Given the description of an element on the screen output the (x, y) to click on. 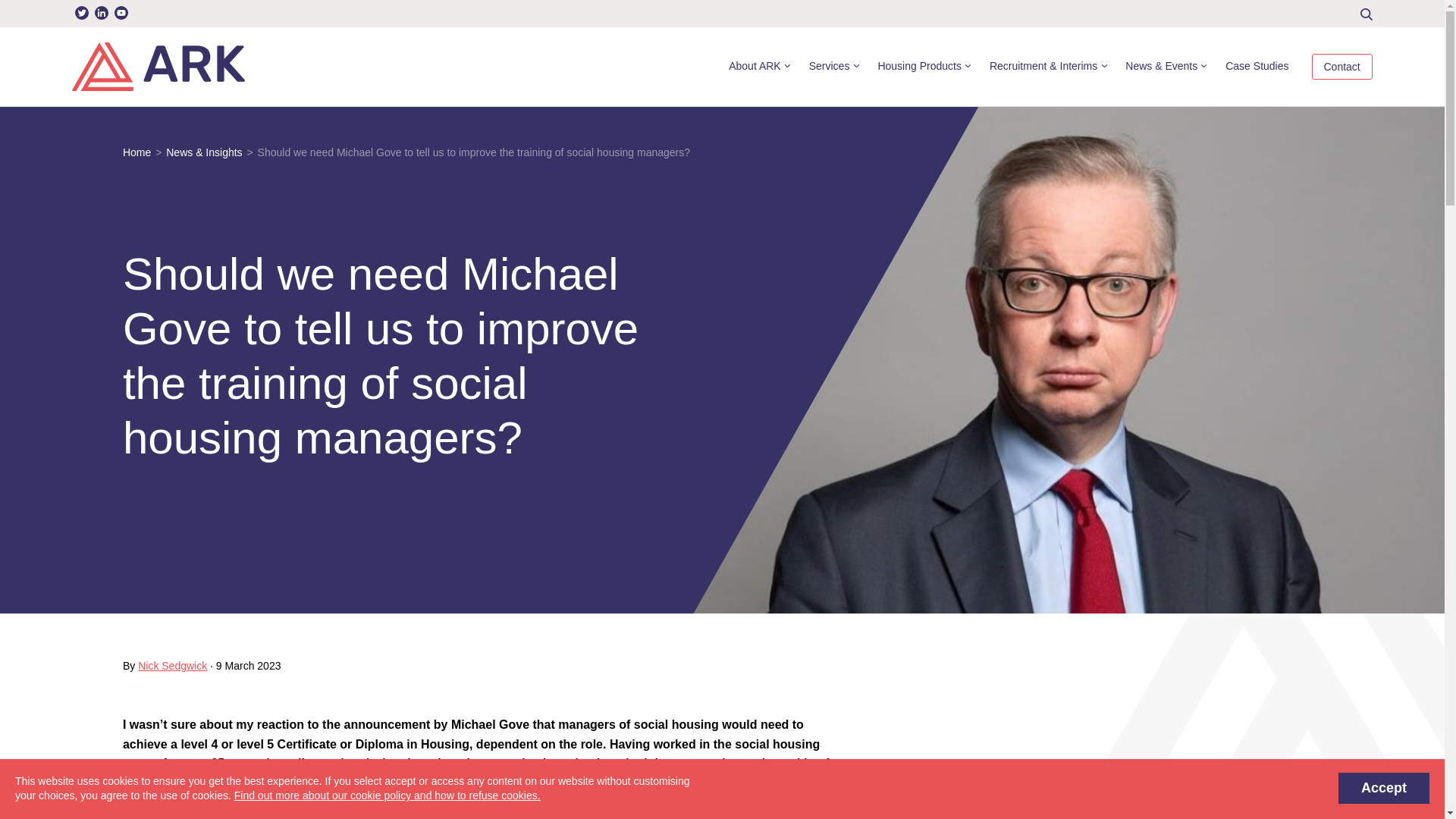
Housing Products (922, 66)
Accept (1383, 788)
Case Studies (1257, 66)
About ARK (757, 66)
Contact (1342, 67)
